Given the description of an element on the screen output the (x, y) to click on. 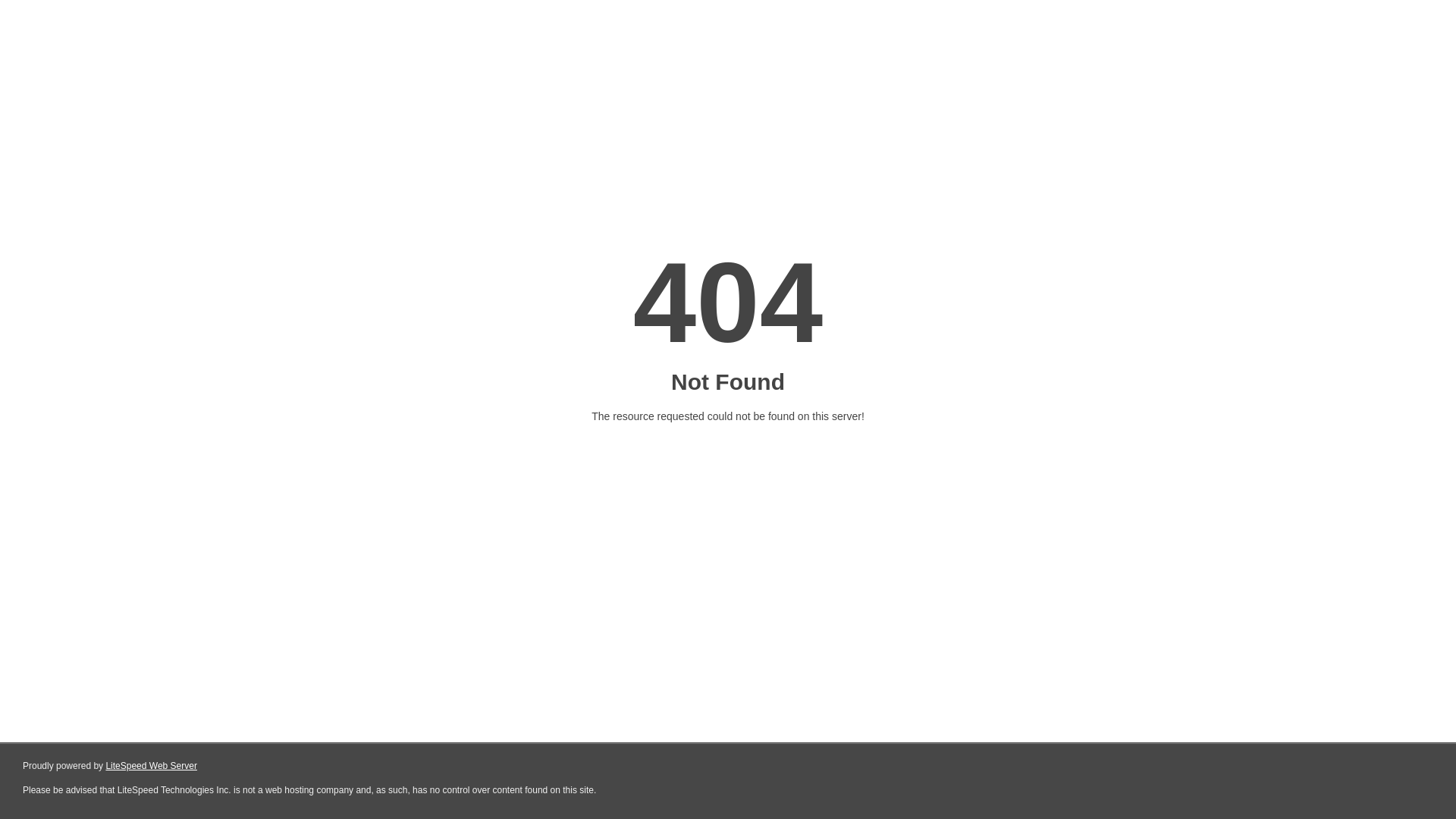
LiteSpeed Web Server Element type: text (151, 765)
